Given the description of an element on the screen output the (x, y) to click on. 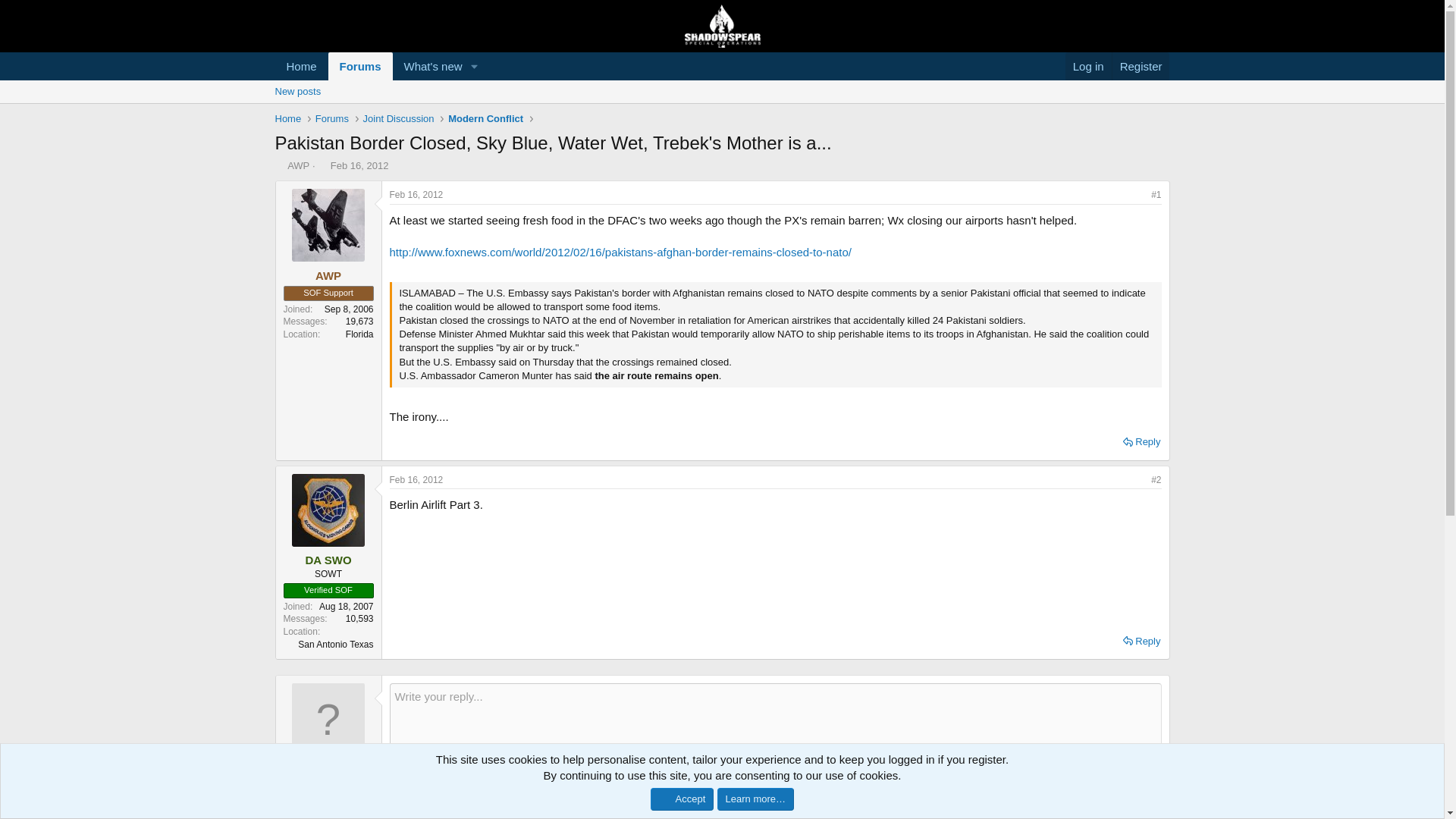
New posts (720, 108)
Forums (331, 117)
Feb 16, 2012 (417, 480)
Feb 16, 2012 at 5:06 PM (417, 194)
Forums (361, 66)
New posts (296, 91)
San Antonio Texas (335, 644)
Register (1141, 66)
Reply, quoting this message (1141, 641)
Reply (1141, 442)
DA SWO (379, 66)
Feb 16, 2012 (327, 559)
Feb 16, 2012 at 5:06 PM (359, 165)
